Given the description of an element on the screen output the (x, y) to click on. 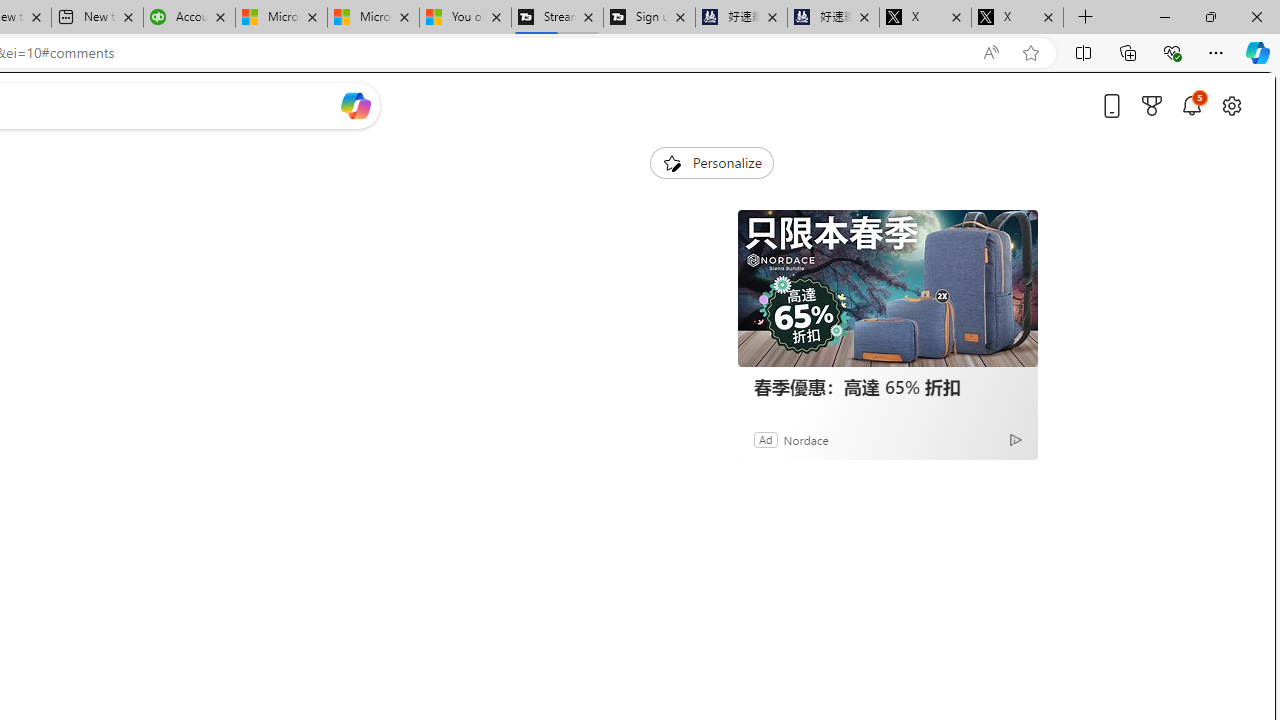
Accounting Software for Accountants, CPAs and Bookkeepers (189, 17)
